Given the description of an element on the screen output the (x, y) to click on. 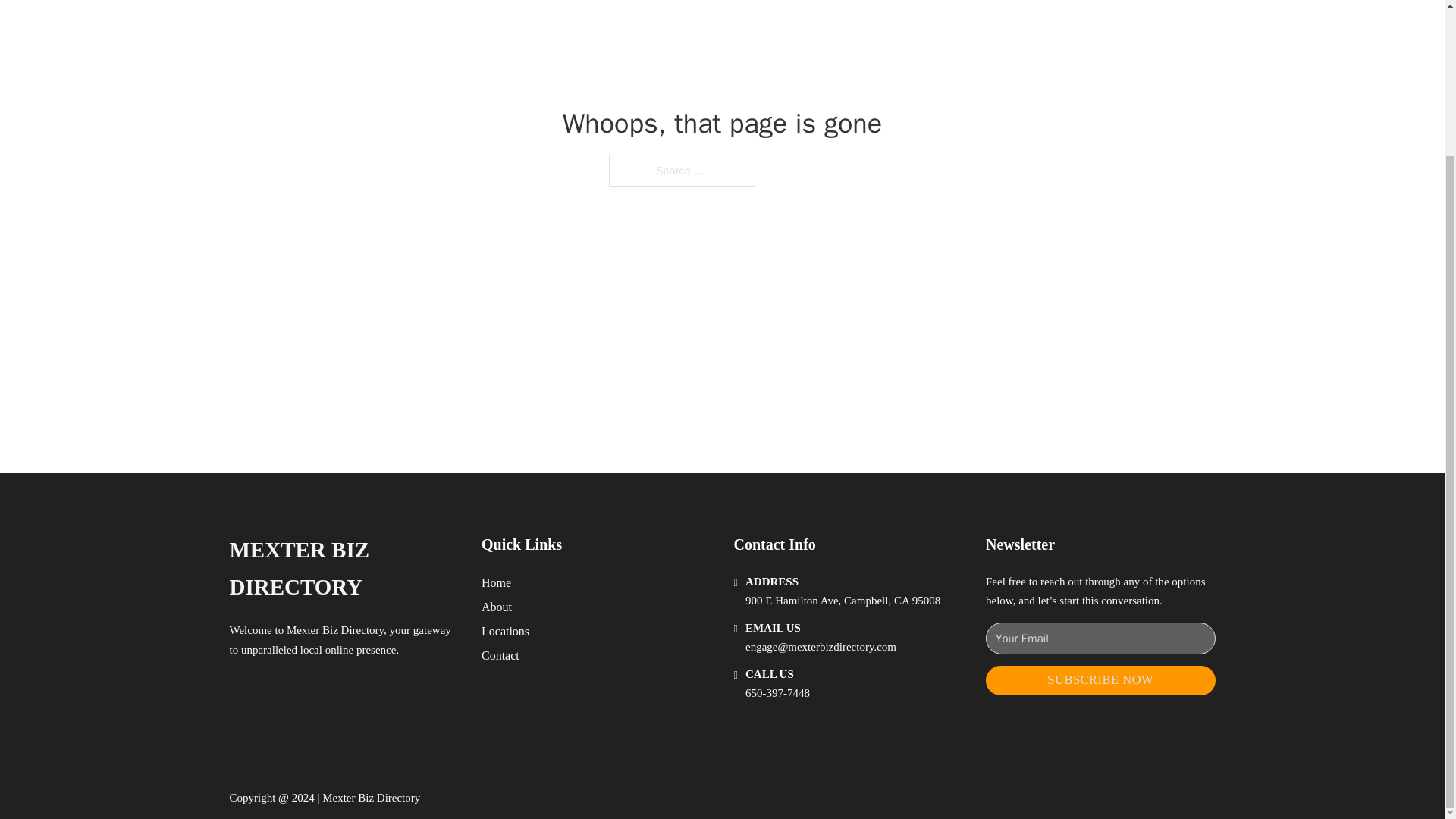
MEXTER BIZ DIRECTORY (343, 568)
SUBSCRIBE NOW (1100, 680)
About (496, 607)
Contact (500, 655)
650-397-7448 (777, 693)
Locations (505, 630)
Home (496, 582)
